Given the description of an element on the screen output the (x, y) to click on. 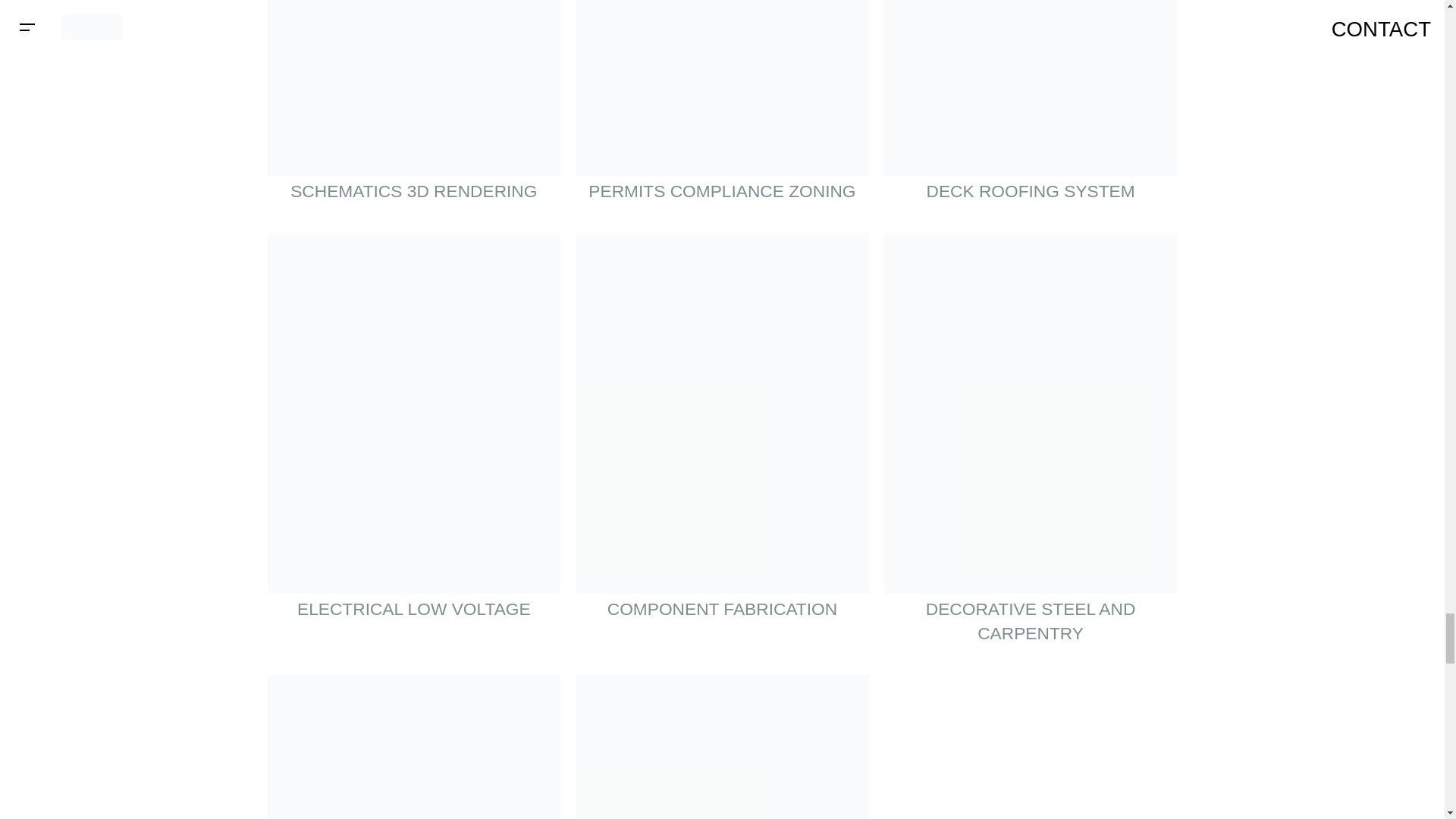
SCHEMATICS 3D RENDERING (413, 108)
PAINTING STAINING (722, 746)
DECK ROOFING SYSTEM (1030, 108)
PERMITS COMPLIANCE ZONING (722, 108)
PLUMBING DRAINAGE (413, 746)
